Given the description of an element on the screen output the (x, y) to click on. 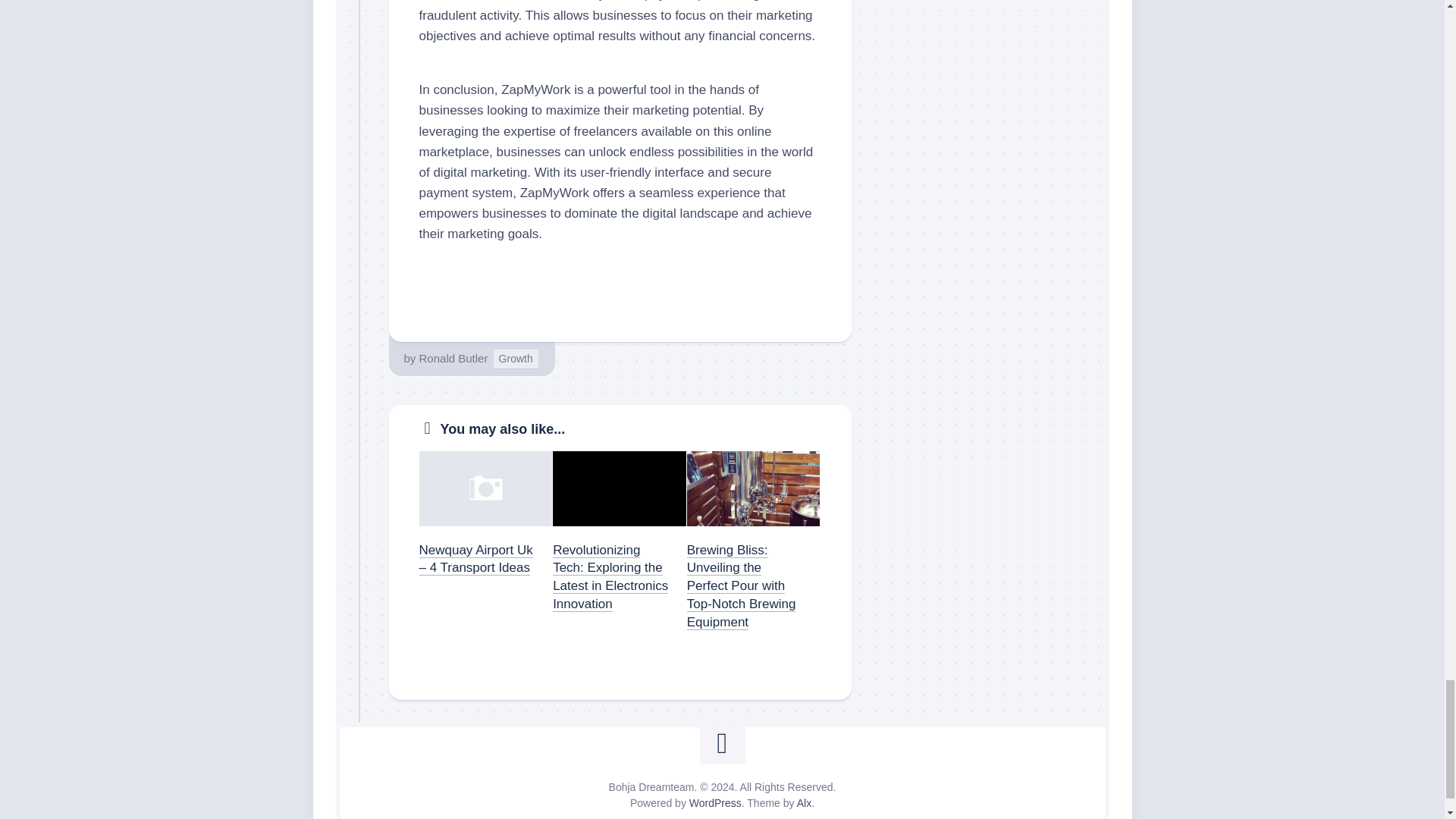
Posts by Ronald Butler (453, 358)
Growth (515, 358)
Alx (803, 802)
WordPress (714, 802)
Ronald Butler (453, 358)
